Given the description of an element on the screen output the (x, y) to click on. 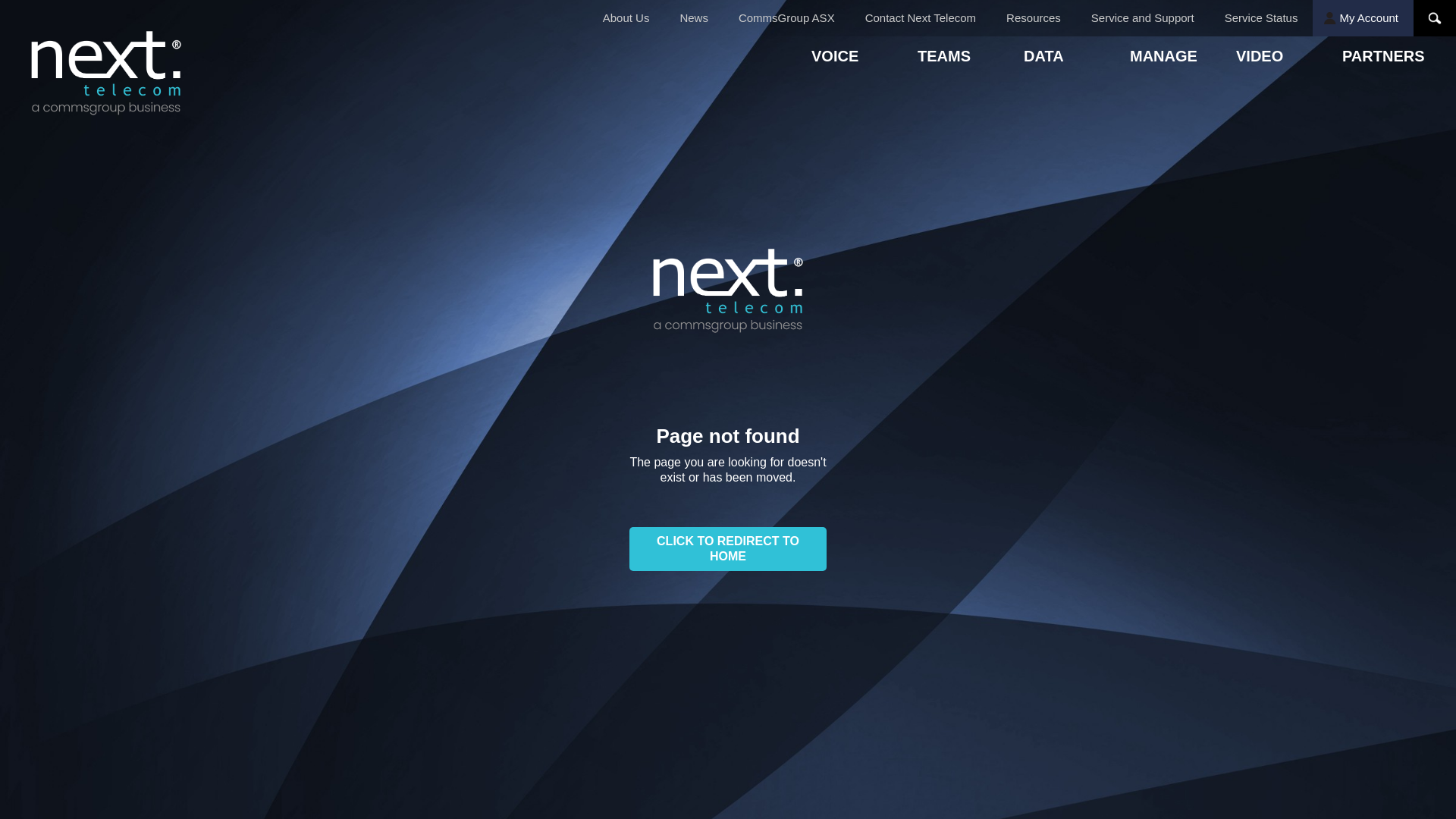
Resources Element type: text (1033, 18)
Contact Next Telecom Element type: text (920, 18)
VOICE Element type: text (864, 57)
TEAMS Element type: text (970, 57)
Service and Support Element type: text (1142, 18)
My Account Element type: text (1362, 18)
VIDEO Element type: text (1289, 57)
Service Status Element type: text (1261, 18)
CommsGroup ASX Element type: text (786, 18)
CLICK TO REDIRECT TO HOME Element type: text (727, 549)
MANAGE Element type: text (1182, 57)
About Us Element type: text (626, 18)
News Element type: text (693, 18)
DATA Element type: text (1076, 57)
PARTNERS Element type: text (1395, 57)
